Given the description of an element on the screen output the (x, y) to click on. 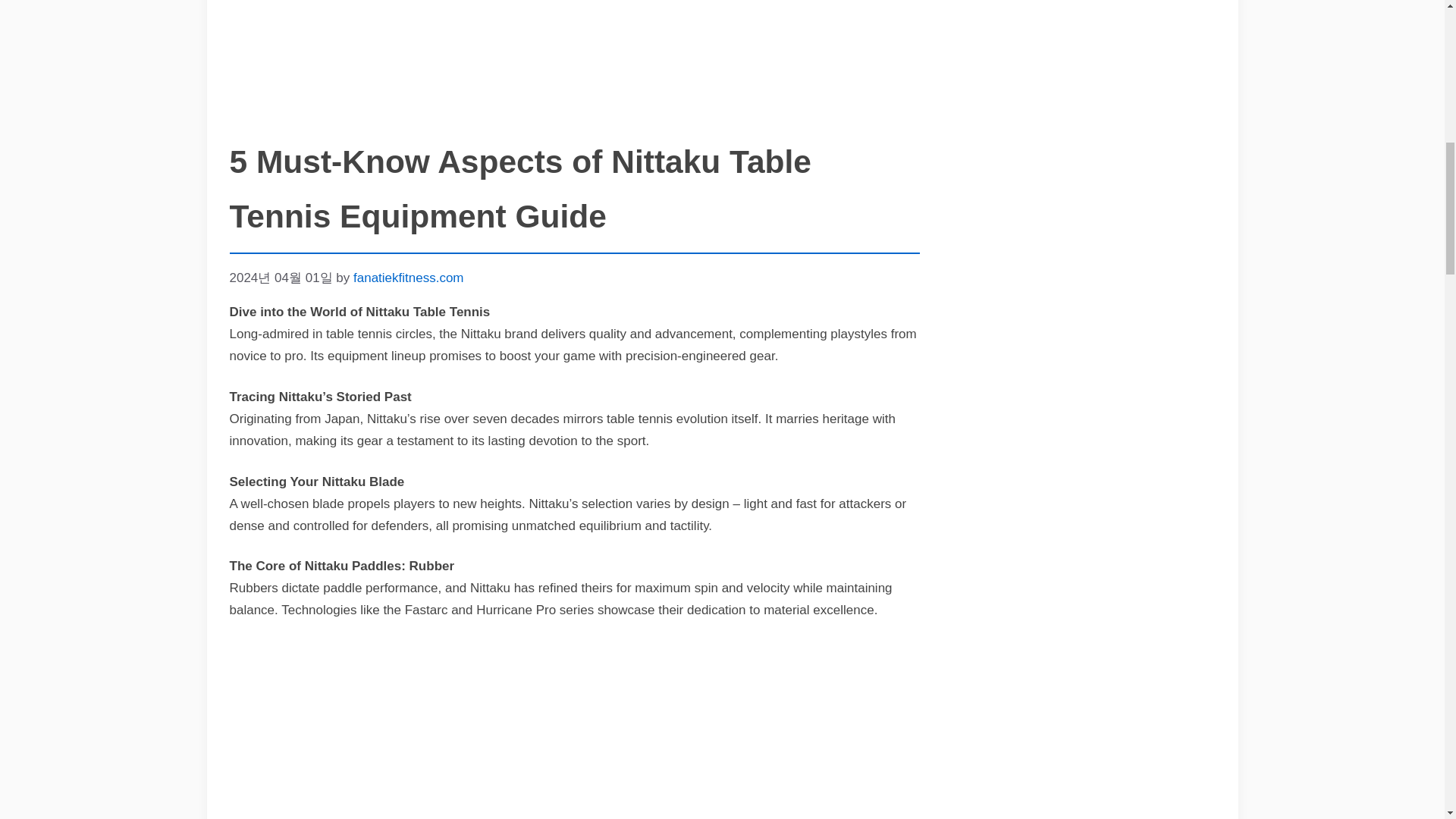
View all posts by fanatiekfitness.com (408, 277)
Scroll back to top (1406, 720)
fanatiekfitness.com (408, 277)
